Given the description of an element on the screen output the (x, y) to click on. 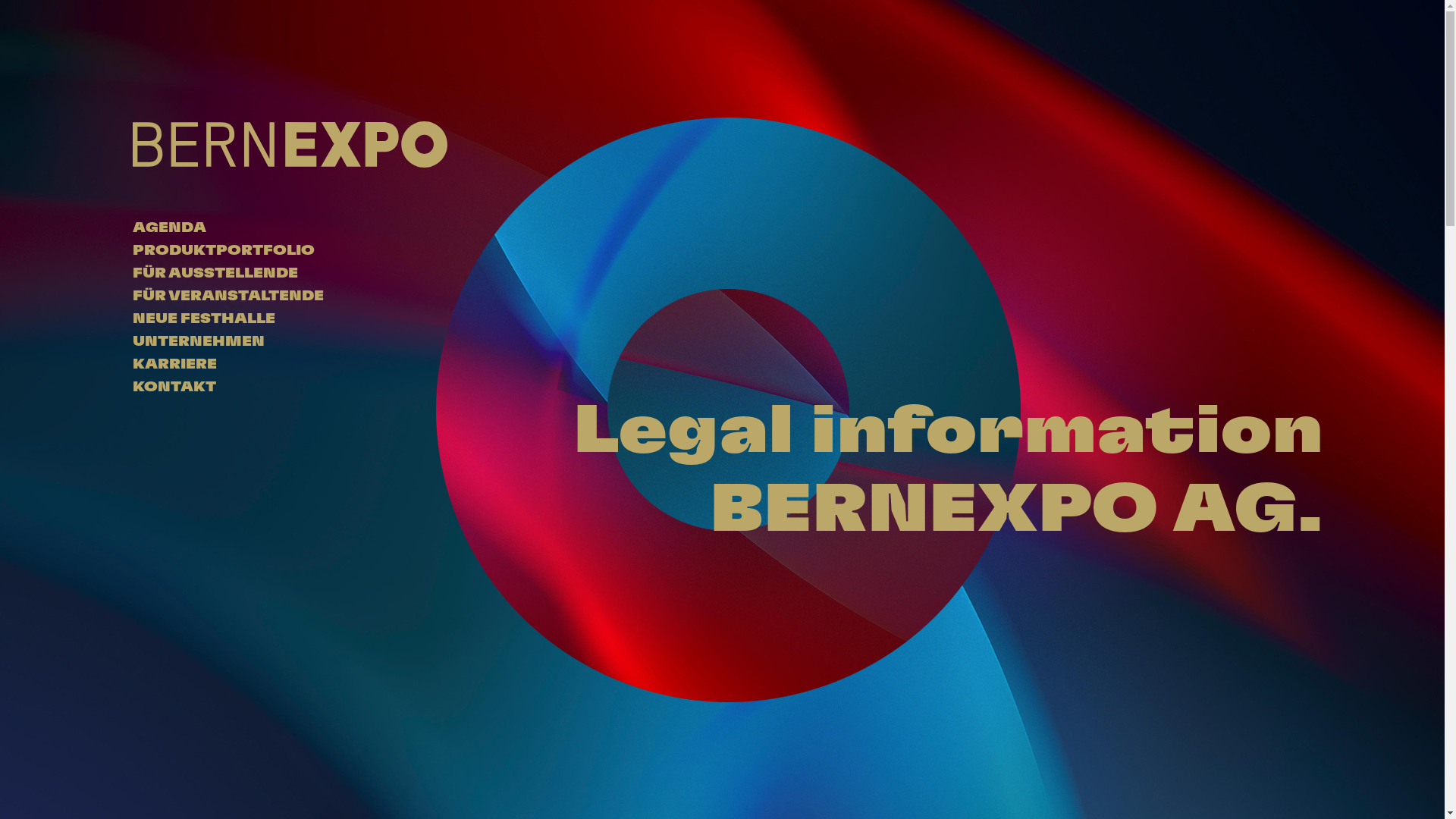
PRODUKTPORTFOLIO Element type: text (223, 250)
KARRIERE Element type: text (174, 364)
AGENDA Element type: text (169, 228)
KONTAKT Element type: text (174, 387)
NEUE FESTHALLE Element type: text (203, 319)
UNTERNEHMEN Element type: text (198, 341)
